Given the description of an element on the screen output the (x, y) to click on. 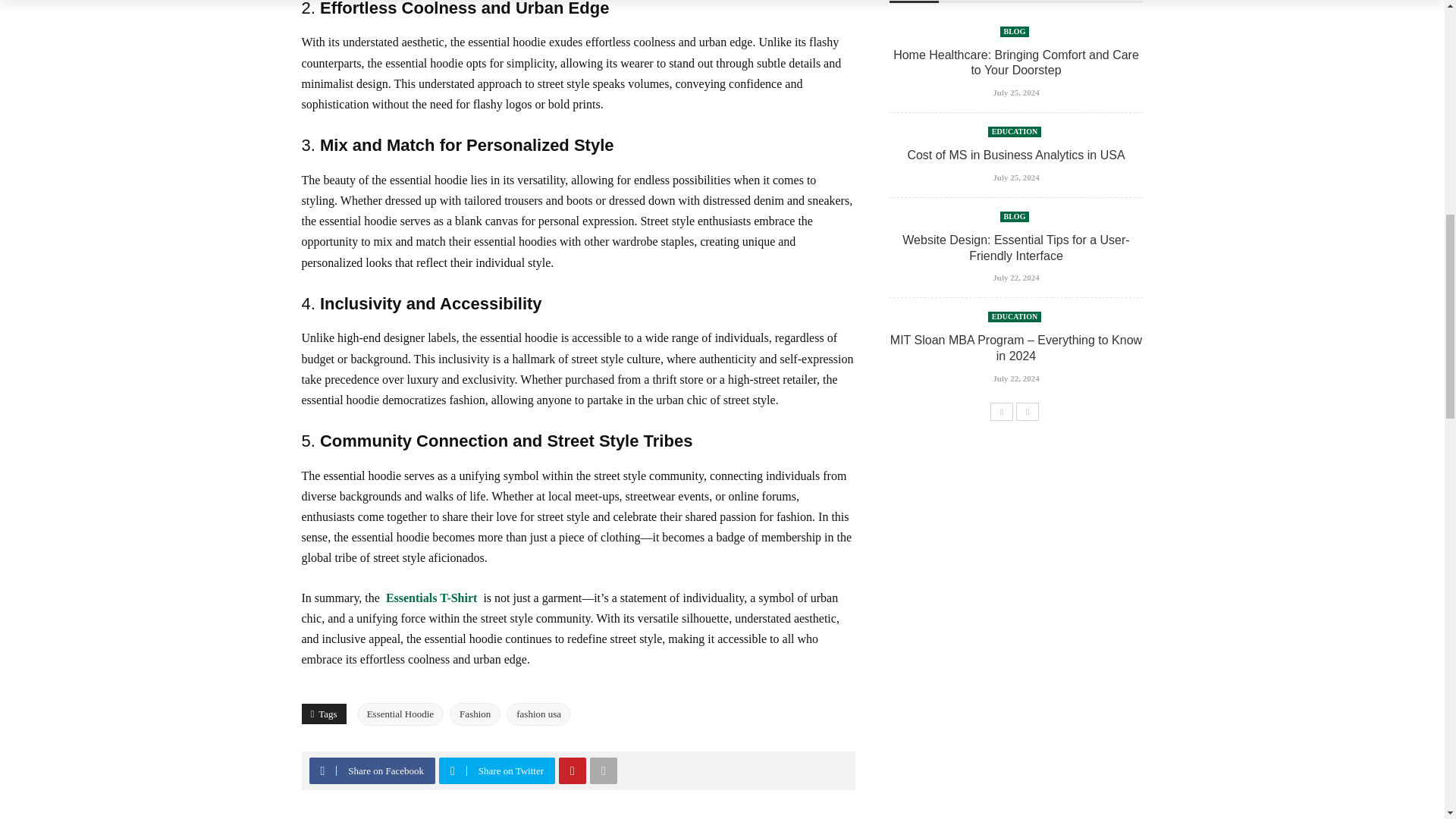
Fashion (474, 713)
Share on Twitter (499, 770)
Share on Facebook (373, 770)
View all posts tagged Essential Hoodie (400, 713)
View all posts tagged Fashion (474, 713)
View all posts tagged fashion usa (538, 713)
fashion usa (538, 713)
Essential Hoodie (400, 713)
Essentials T-Shirt (431, 597)
